Given the description of an element on the screen output the (x, y) to click on. 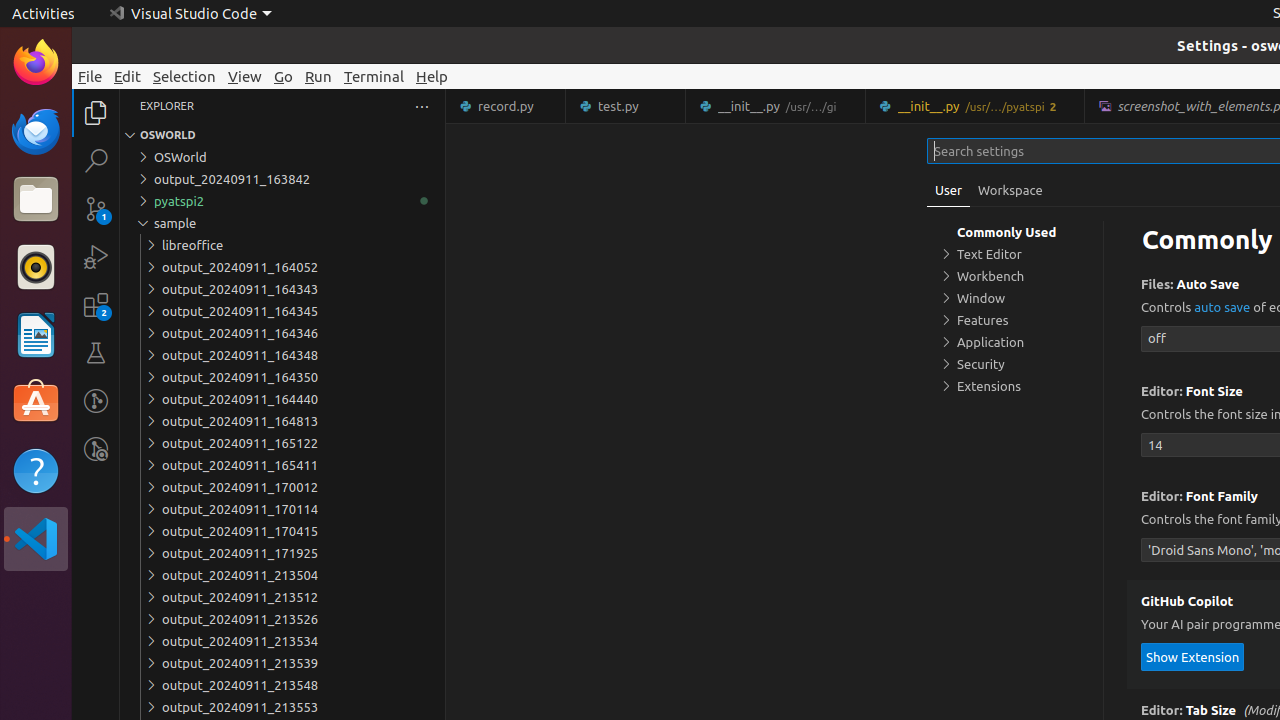
output_20240911_171925 Element type: tree-item (282, 553)
Selection Element type: push-button (184, 76)
Extensions (Ctrl+Shift+X) - 2 require restart Extensions (Ctrl+Shift+X) - 2 require restart Element type: page-tab (96, 305)
output_20240911_165411 Element type: tree-item (282, 465)
Features, group Element type: tree-item (1015, 320)
